Given the description of an element on the screen output the (x, y) to click on. 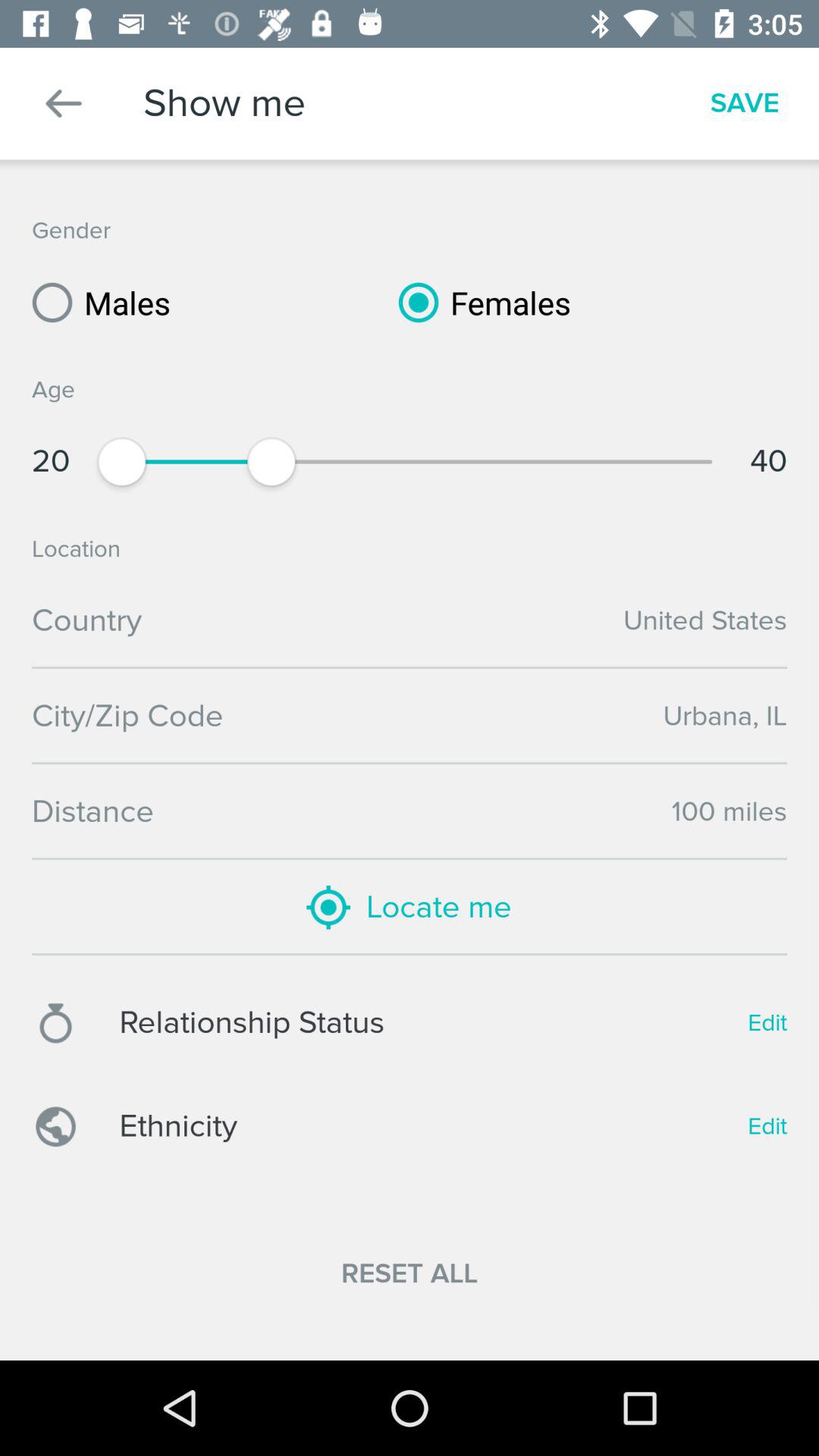
scroll to the save (744, 103)
